Given the description of an element on the screen output the (x, y) to click on. 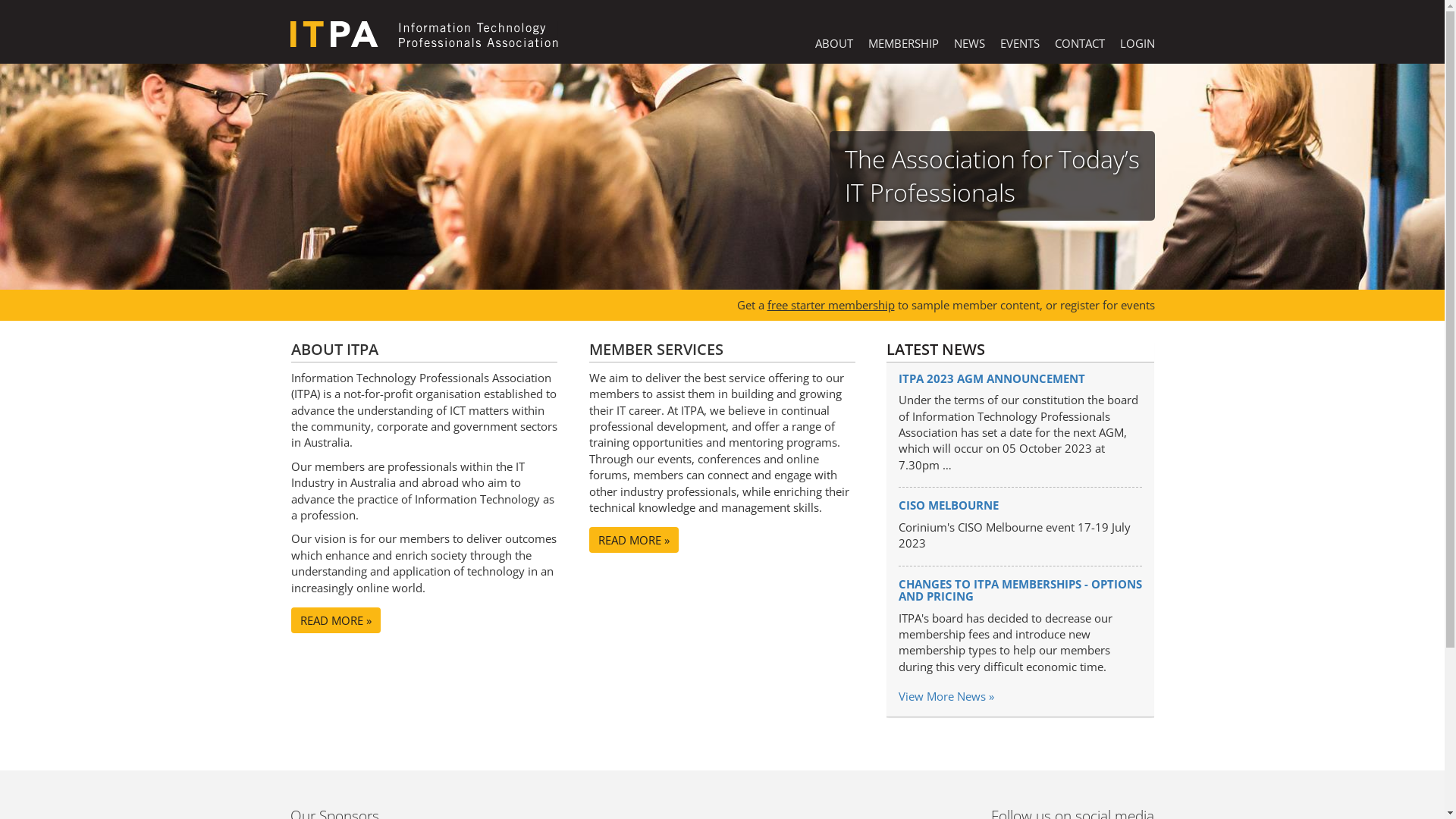
ABOUT Element type: text (832, 43)
ITPA 2023 AGM ANNOUNCEMENT Element type: text (991, 377)
CISO MELBOURNE Element type: text (948, 504)
CONTACT Element type: text (1078, 43)
CHANGES TO ITPA MEMBERSHIPS - OPTIONS AND PRICING Element type: text (1020, 590)
NEWS Element type: text (969, 43)
MEMBERSHIP Element type: text (902, 43)
EVENTS Element type: text (1018, 43)
LOGIN Element type: text (1136, 43)
